Given the description of an element on the screen output the (x, y) to click on. 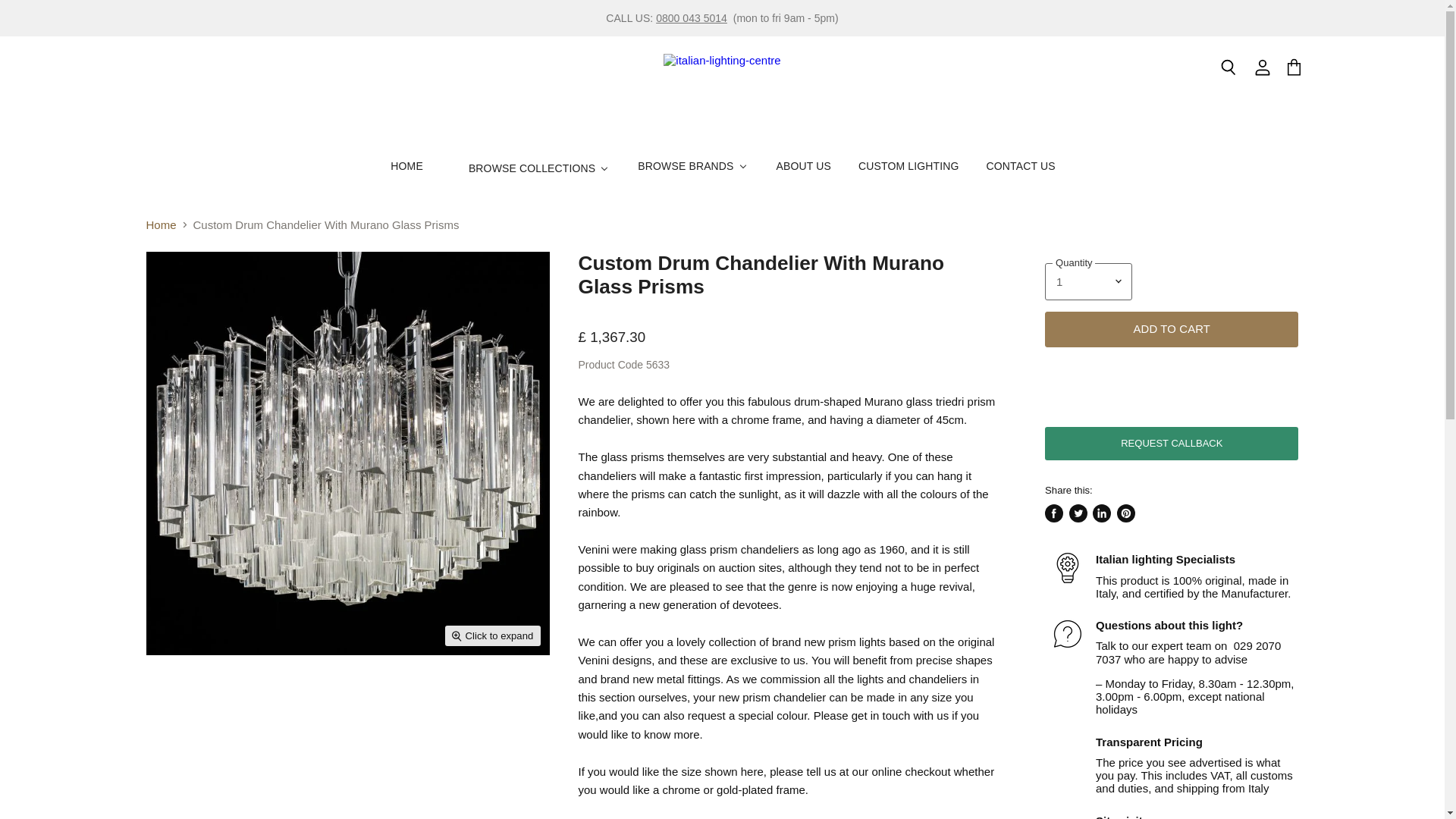
0800 043 5014 (691, 18)
BROWSE COLLECTIONS (529, 167)
HOME (405, 165)
